Given the description of an element on the screen output the (x, y) to click on. 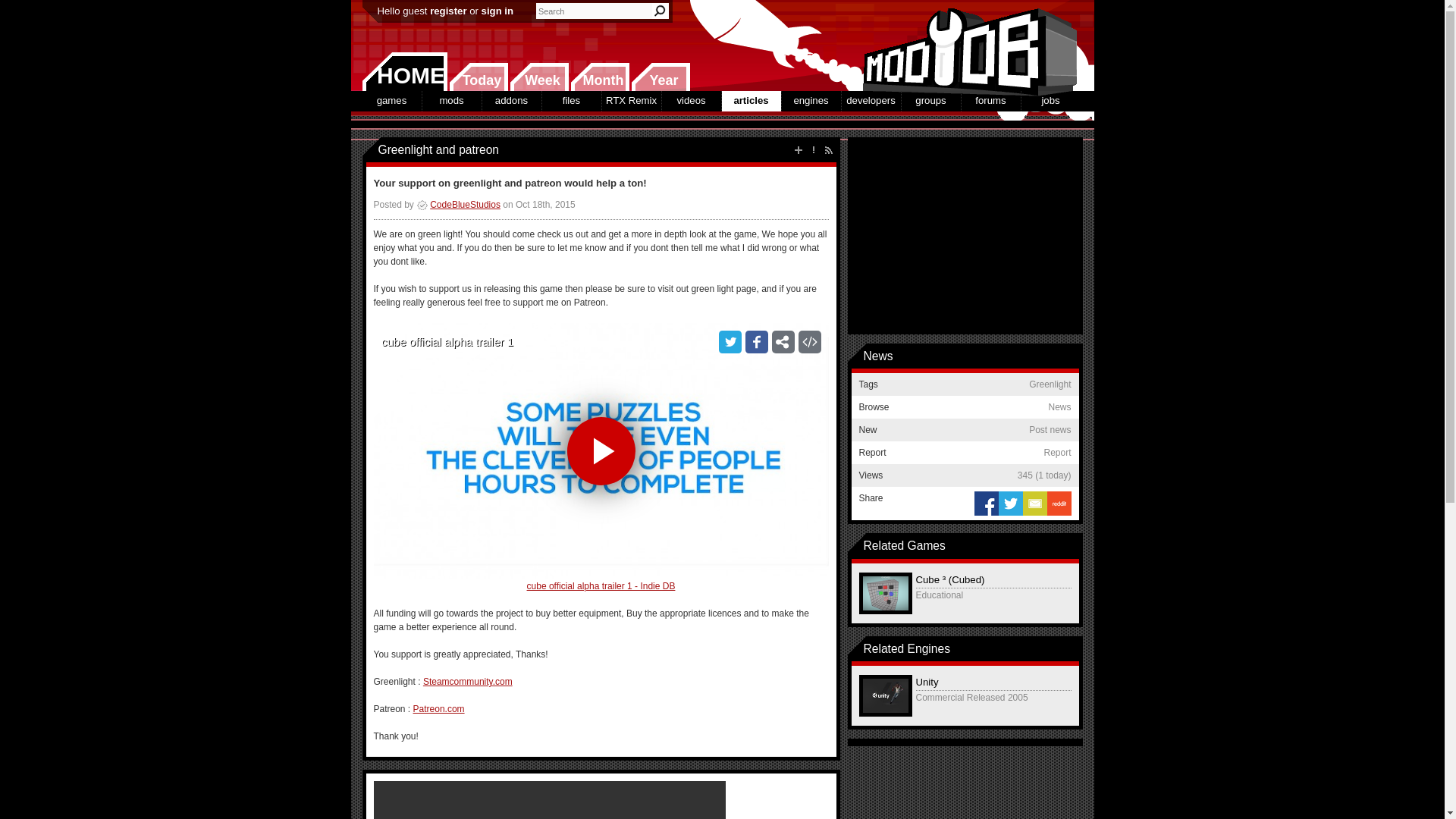
Report (813, 150)
New this month (599, 76)
register (447, 10)
files (570, 100)
New this year (660, 76)
Search ModDB (660, 10)
addons (511, 100)
Article Manager (458, 204)
games (392, 100)
